Given the description of an element on the screen output the (x, y) to click on. 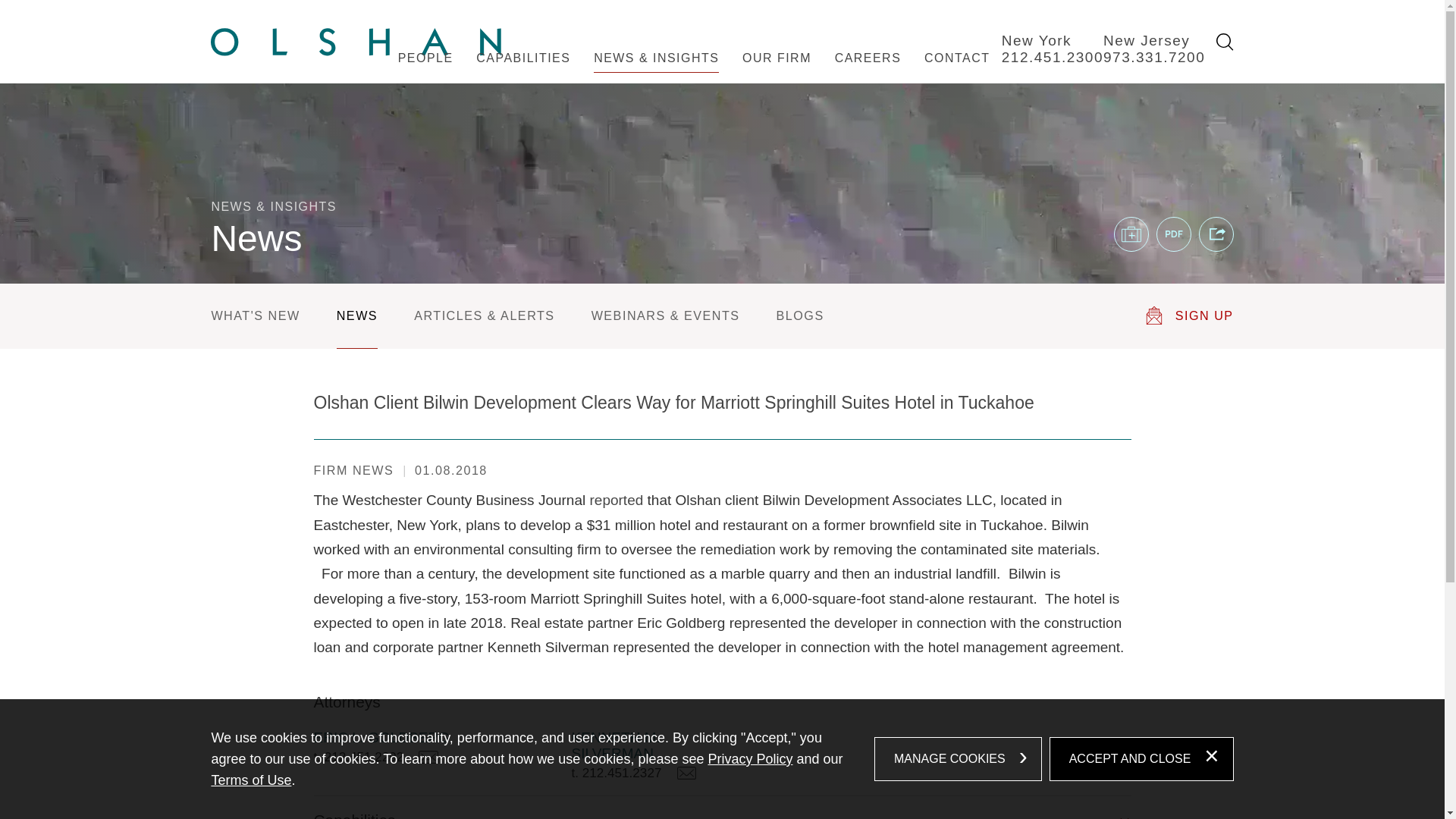
CAPABILITIES (523, 73)
Main Menu (674, 20)
Menu (674, 20)
Share (1215, 234)
Search (1224, 41)
Main Content (667, 20)
PEOPLE (424, 73)
Print PDF (1173, 234)
CAREERS (867, 73)
OUR FIRM (777, 73)
